Given the description of an element on the screen output the (x, y) to click on. 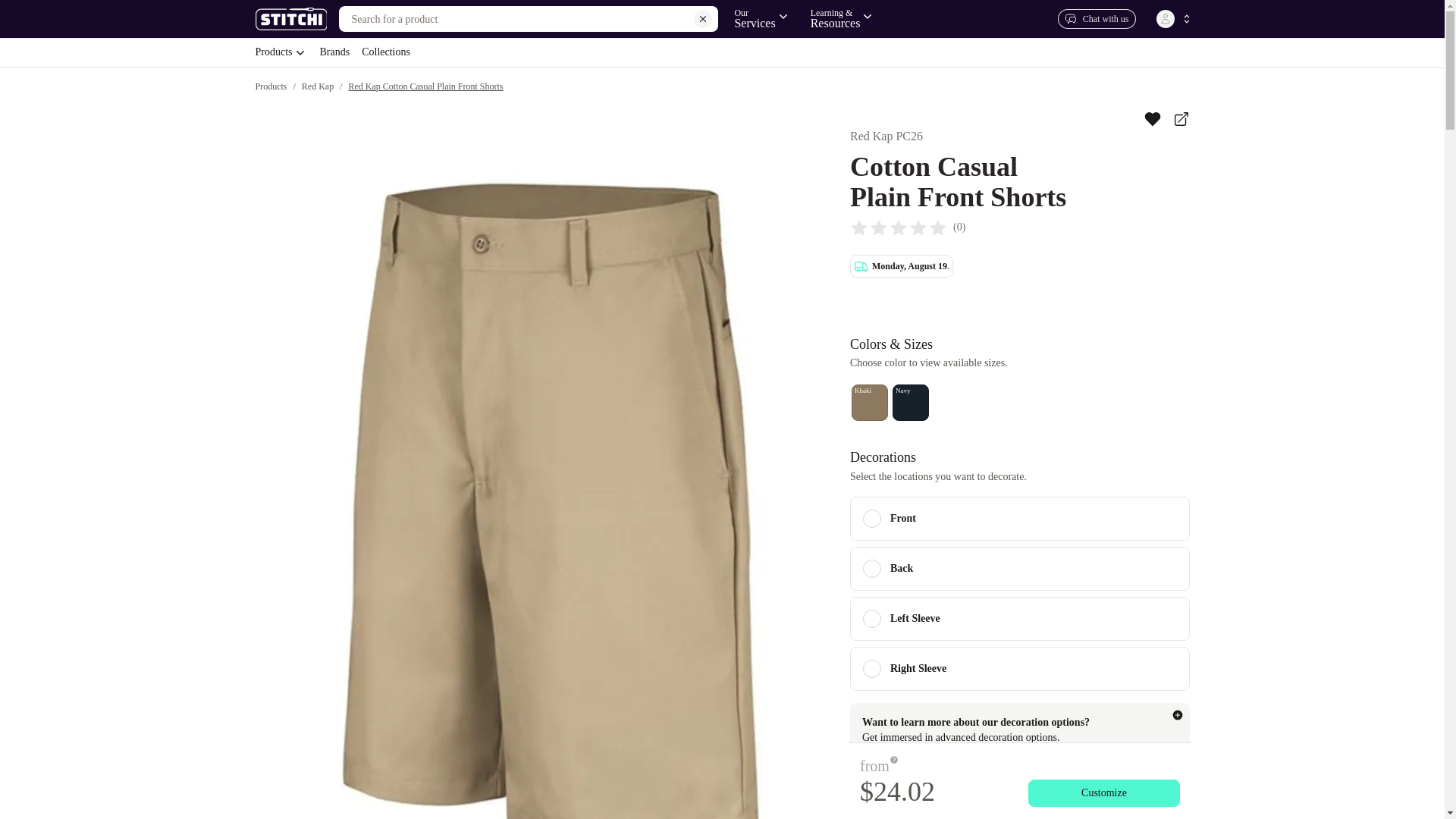
checked (761, 18)
checked (871, 669)
Chat with us (871, 568)
checked (1096, 18)
Products (721, 52)
checked (871, 518)
